Given the description of an element on the screen output the (x, y) to click on. 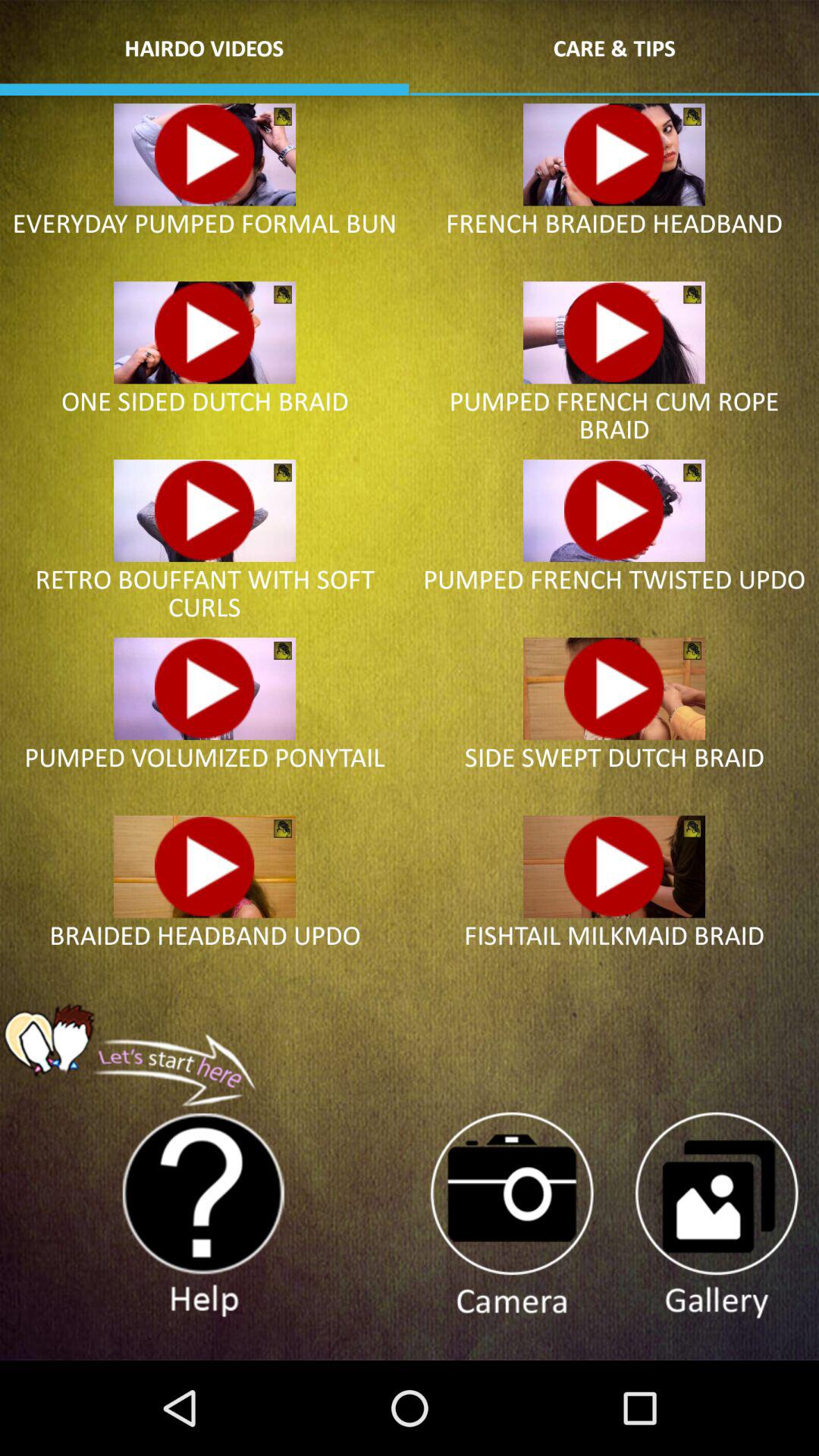
help more information (204, 1215)
